Given the description of an element on the screen output the (x, y) to click on. 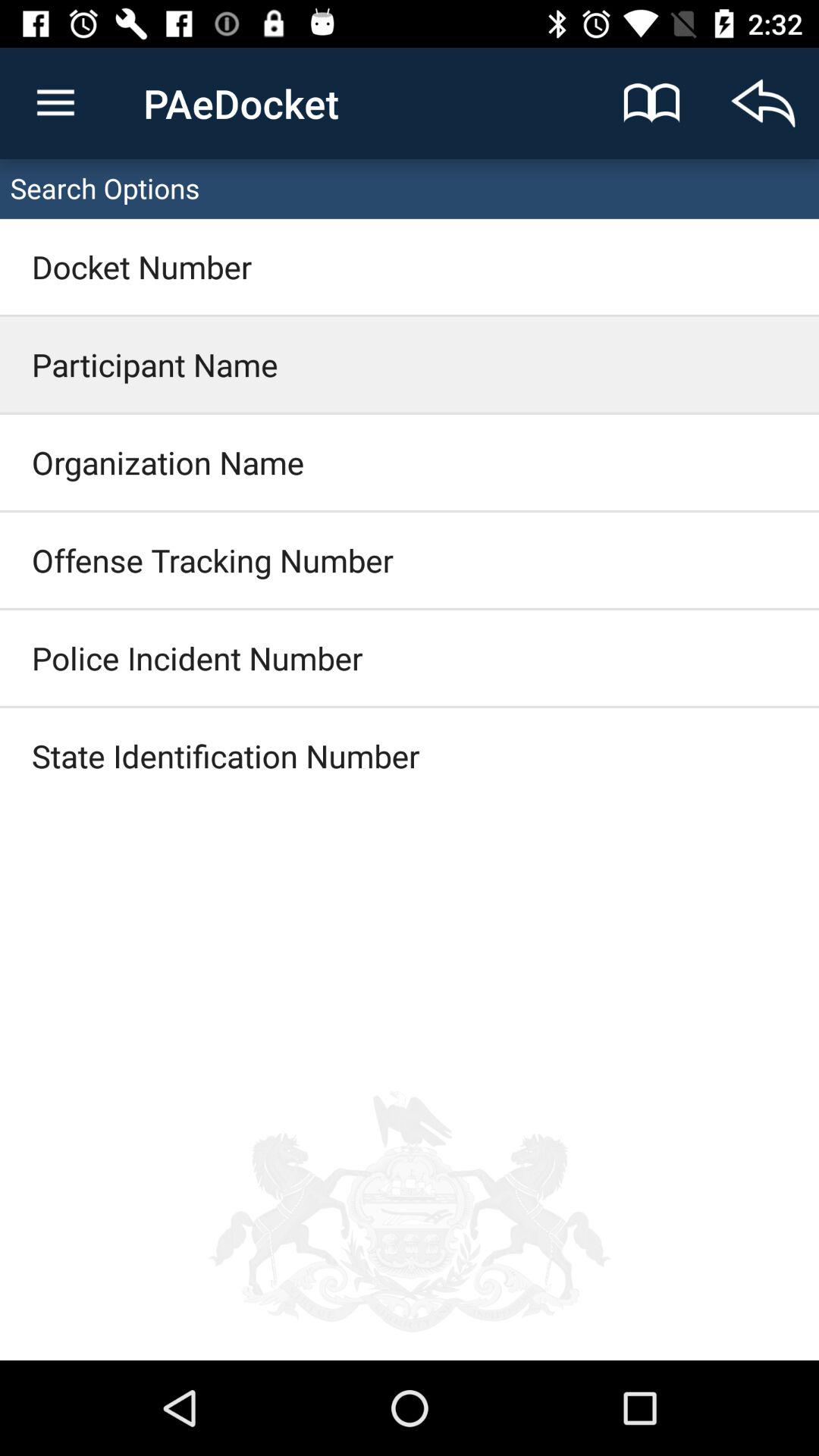
select the icon next to the text paedocket (651, 103)
